Given the description of an element on the screen output the (x, y) to click on. 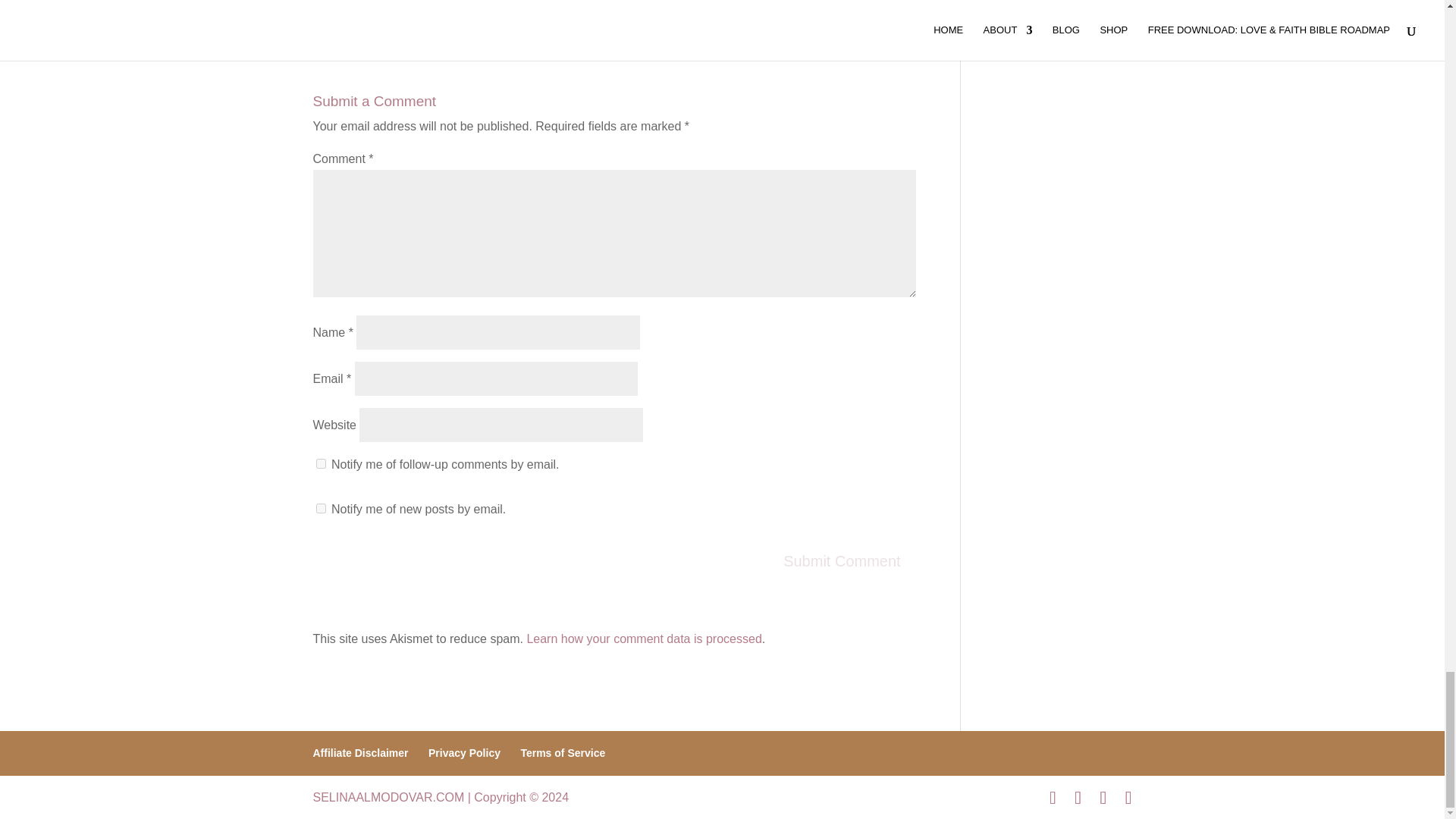
Privacy Policy (464, 752)
Terms of Service (562, 752)
Learn how your comment data is processed (643, 638)
subscribe (319, 463)
Affiliate Disclaimer (360, 752)
Share It (383, 9)
subscribe (319, 508)
Submit Comment (841, 560)
Submit Comment (841, 560)
Tweet It (690, 9)
